Given the description of an element on the screen output the (x, y) to click on. 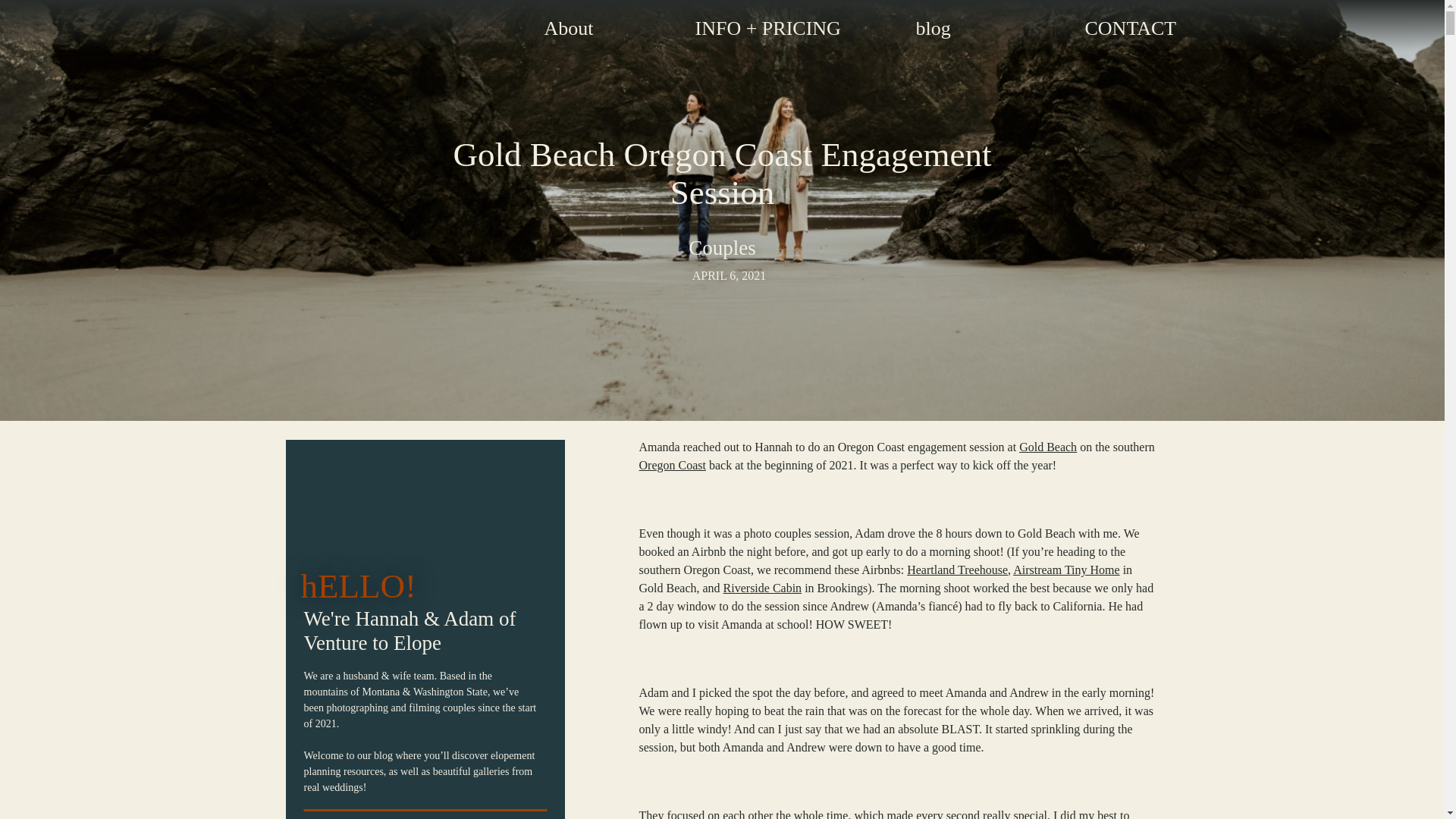
About (585, 32)
blog (952, 32)
CONTACT (1121, 32)
HOME (351, 32)
Couples (721, 247)
